Given the description of an element on the screen output the (x, y) to click on. 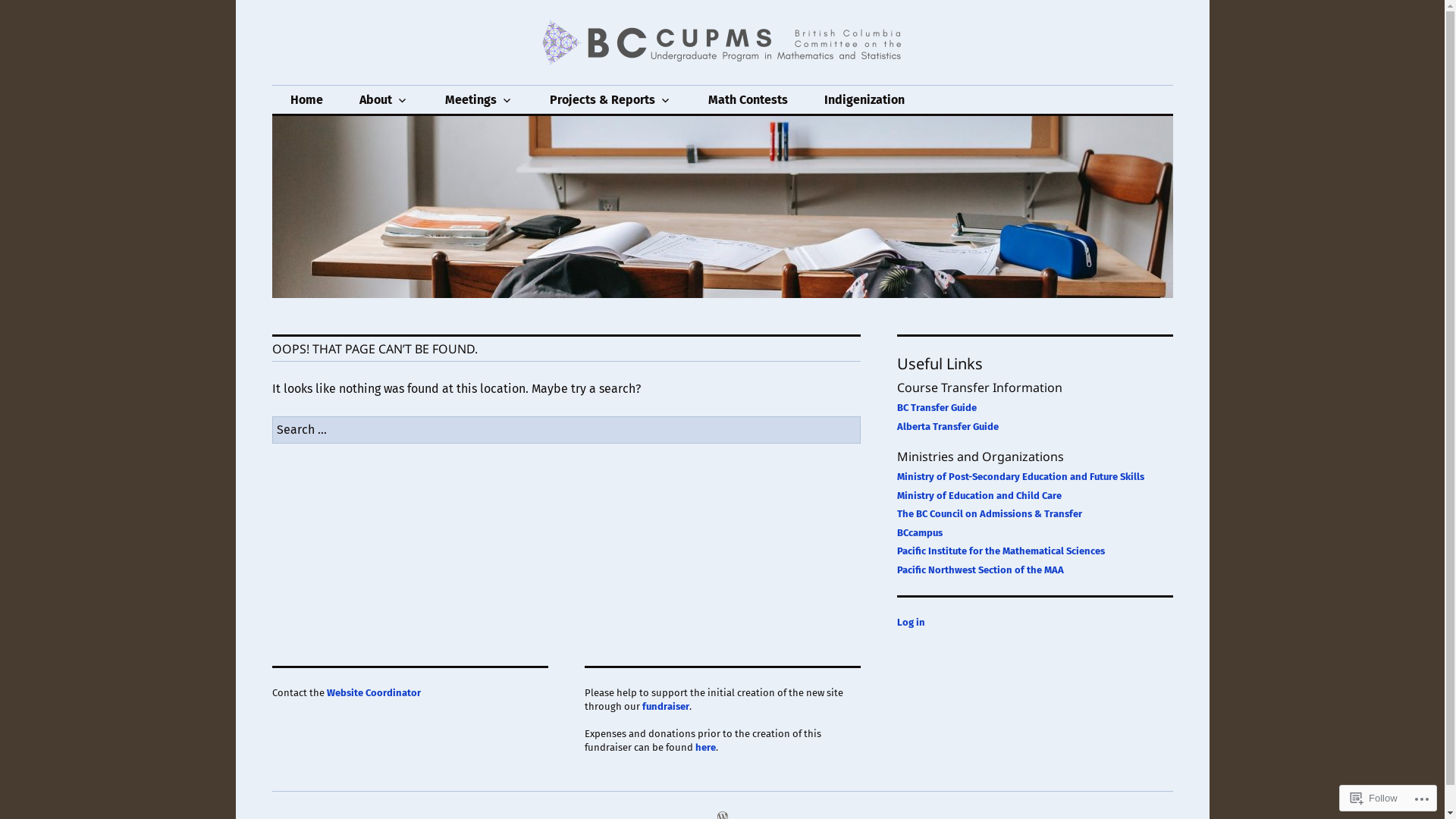
Search Element type: text (9, 4)
Math Contests Element type: text (748, 99)
BCcupms Element type: text (337, 84)
About Element type: text (383, 99)
BCcampus Element type: text (918, 531)
Alberta Transfer Guide Element type: text (946, 425)
Projects & Reports Element type: text (609, 99)
fundraiser Element type: text (664, 706)
here Element type: text (704, 747)
Ministry of Post-Secondary Education and Future Skills Element type: text (1019, 476)
Follow Element type: text (1373, 797)
The BC Council on Admissions & Transfer Element type: text (988, 513)
Indigenization Element type: text (863, 99)
Website Coordinator Element type: text (373, 692)
Pacific Northwest Section of the MAA Element type: text (979, 569)
Log in Element type: text (910, 621)
BC Transfer Guide Element type: text (935, 407)
Home Element type: text (305, 99)
Meetings Element type: text (478, 99)
Ministry of Education and Child Care Element type: text (978, 495)
Pacific Institute for the Mathematical Sciences Element type: text (1000, 550)
